Given the description of an element on the screen output the (x, y) to click on. 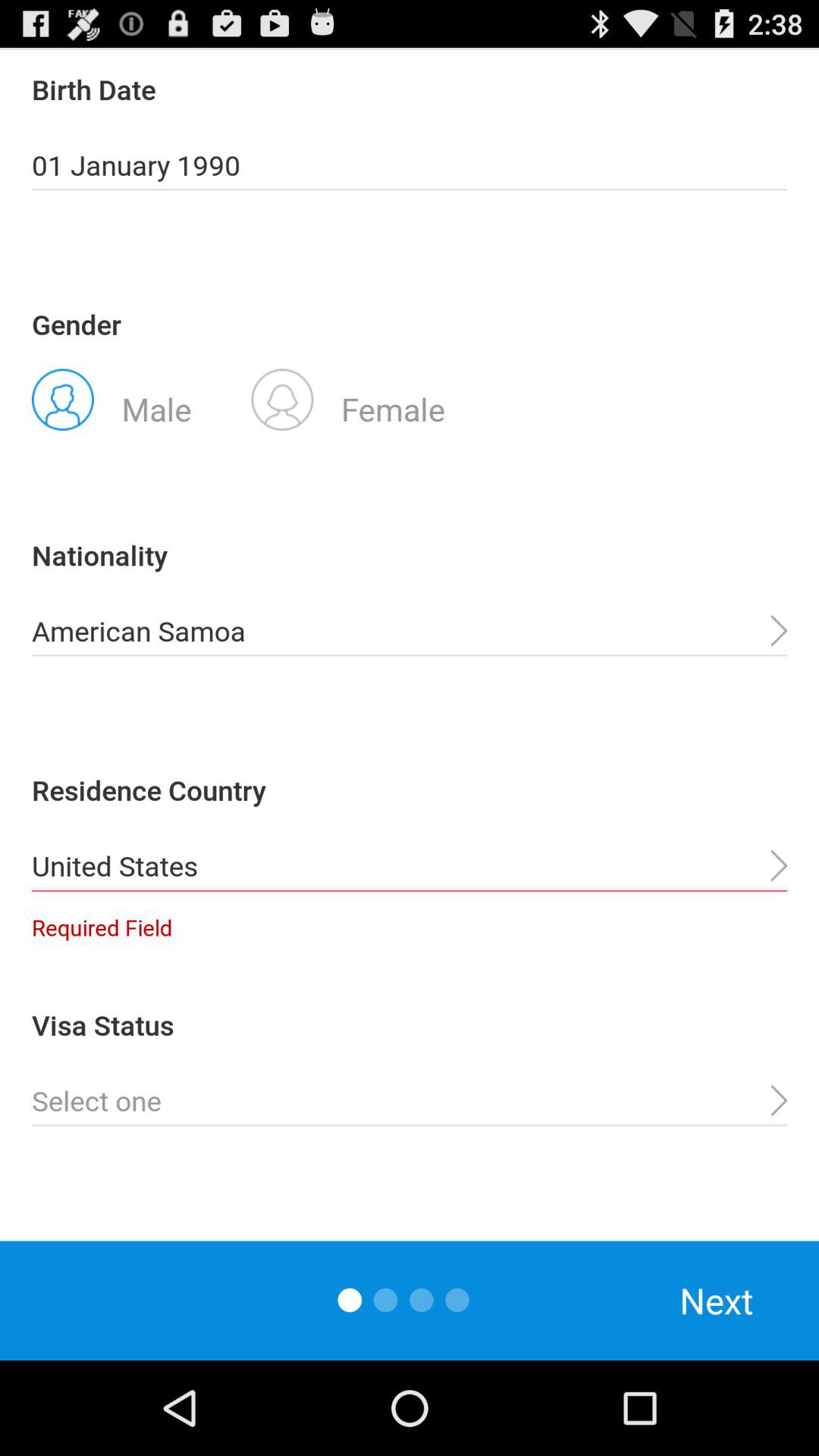
press the icon below the gender (111, 398)
